Given the description of an element on the screen output the (x, y) to click on. 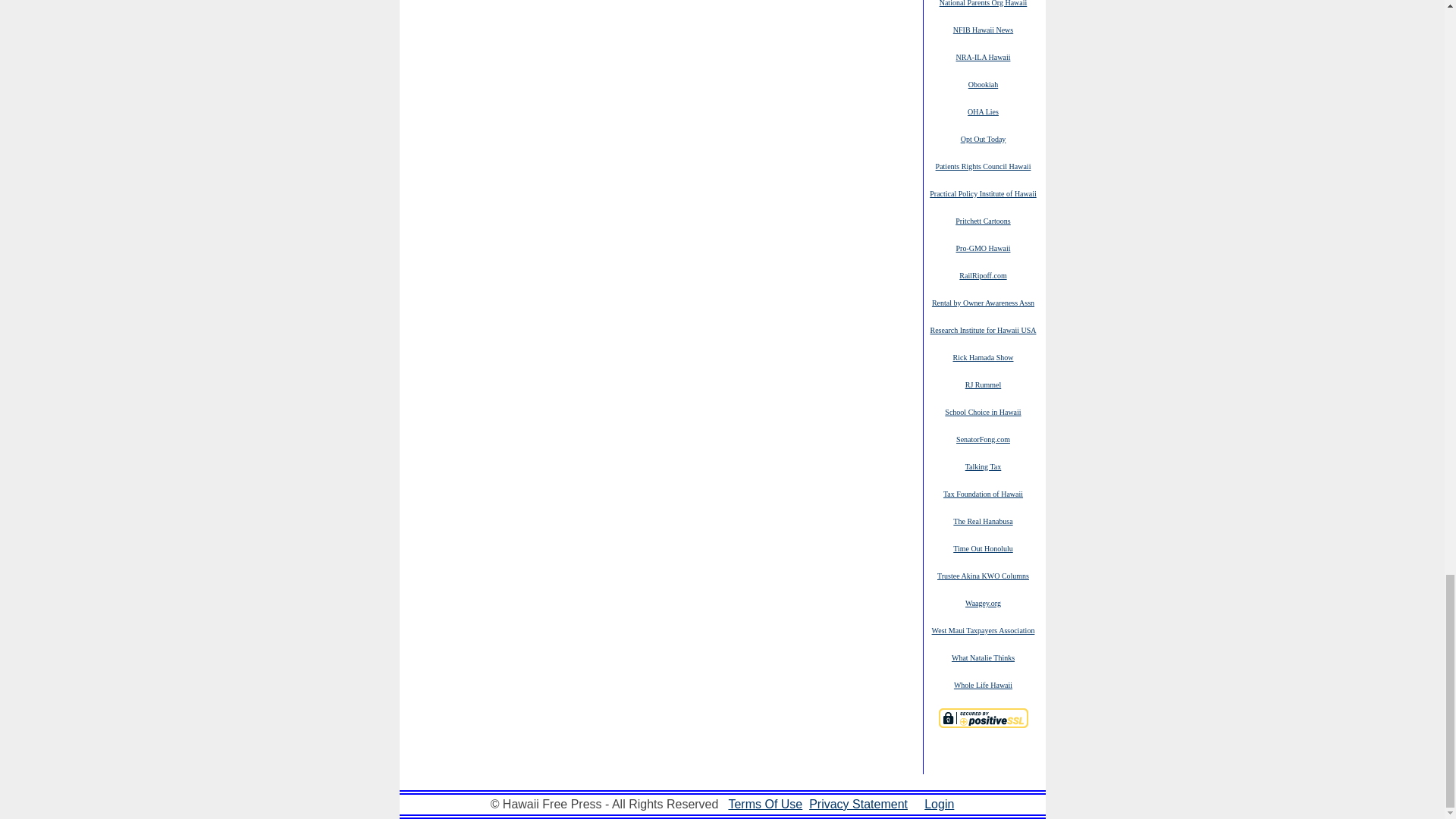
Login (938, 803)
